Given the description of an element on the screen output the (x, y) to click on. 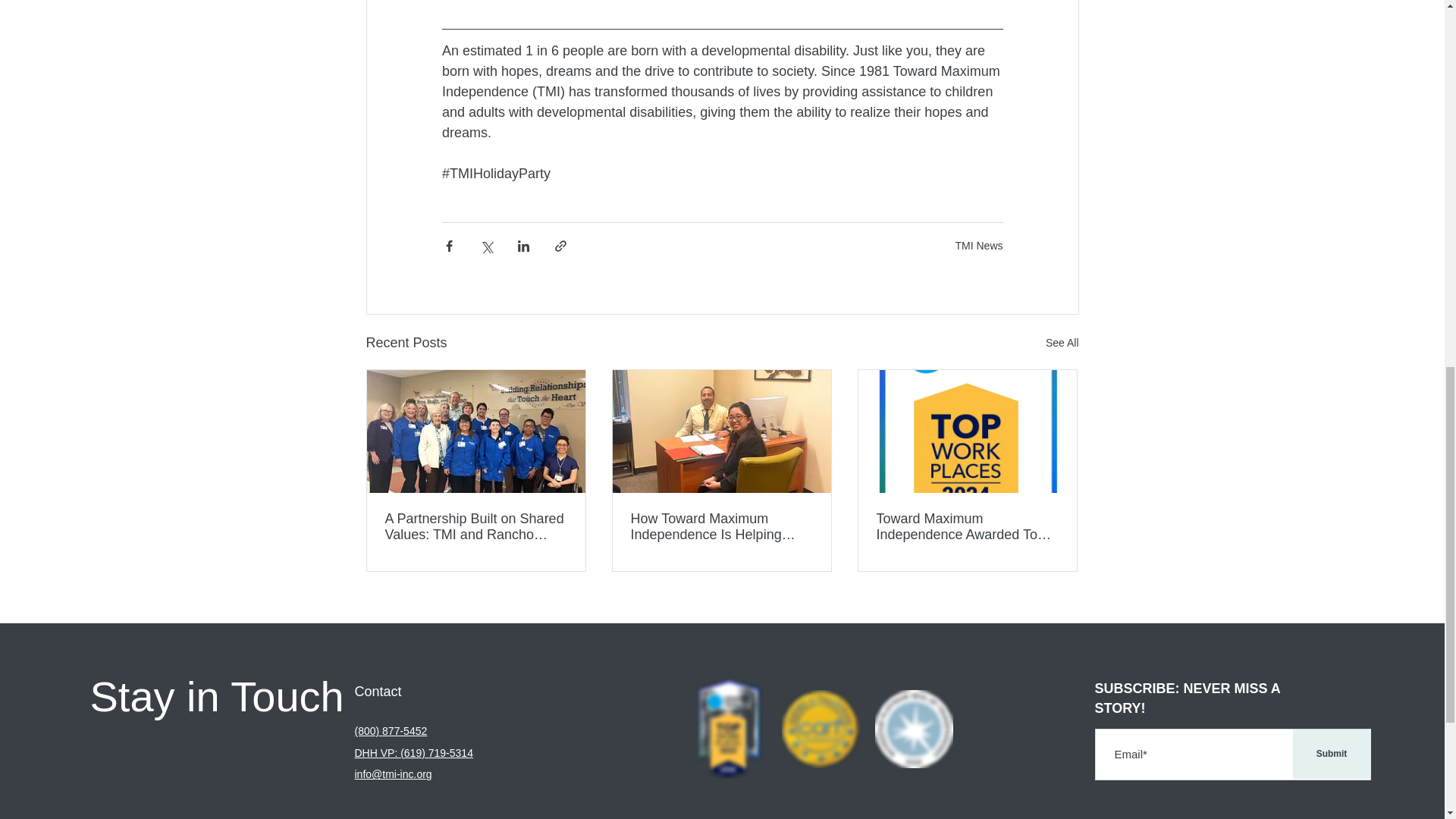
72985927007-topworkplaces.jpg.webp (728, 728)
